Given the description of an element on the screen output the (x, y) to click on. 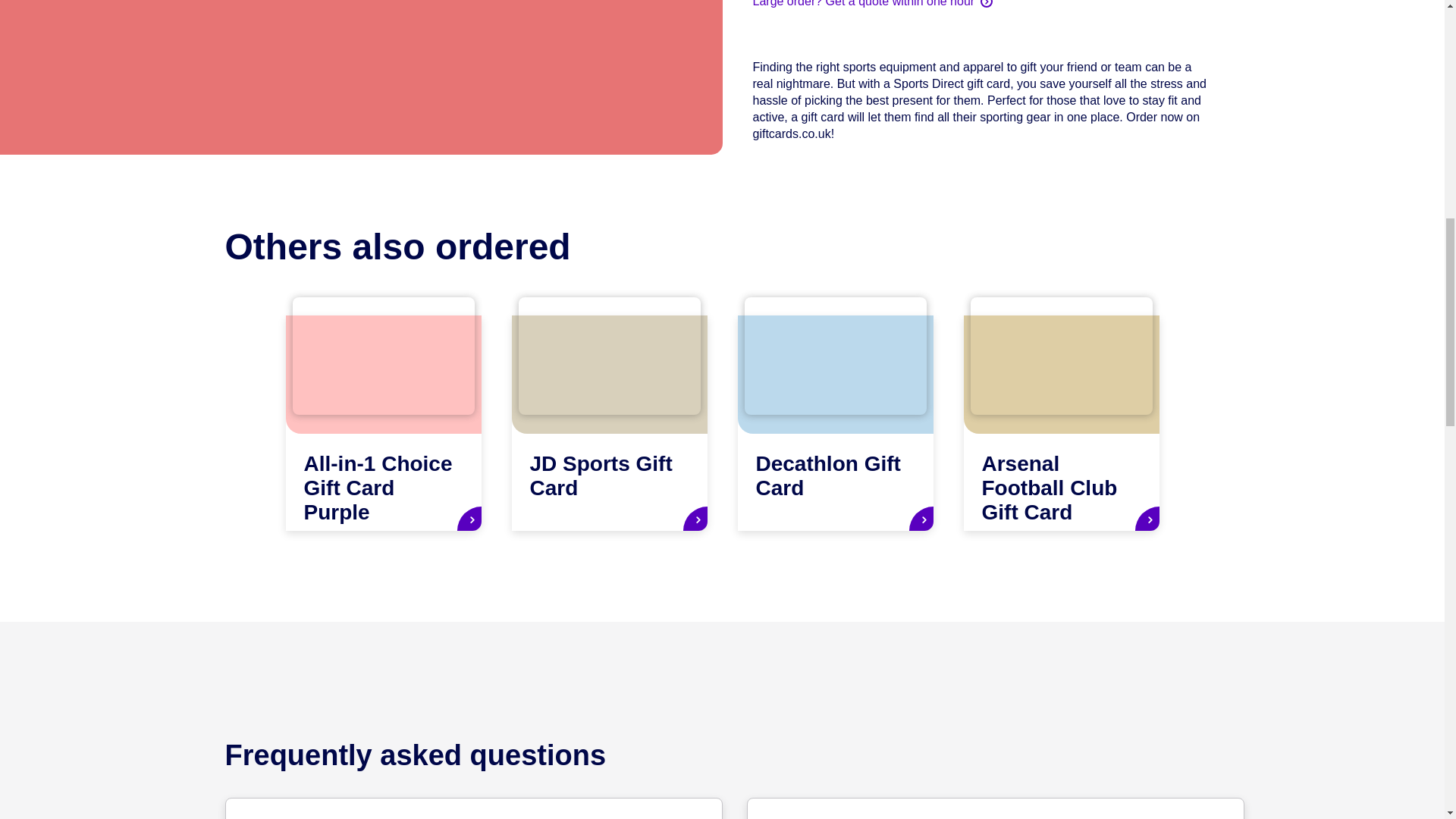
Large order? Get a quote within one hour (872, 4)
All-in-1 Choice Gift Card Purple (382, 422)
JD Sports Gift Card (608, 422)
Decathlon Gift Card (834, 422)
Arsenal Football Club Gift Card (1060, 422)
